Given the description of an element on the screen output the (x, y) to click on. 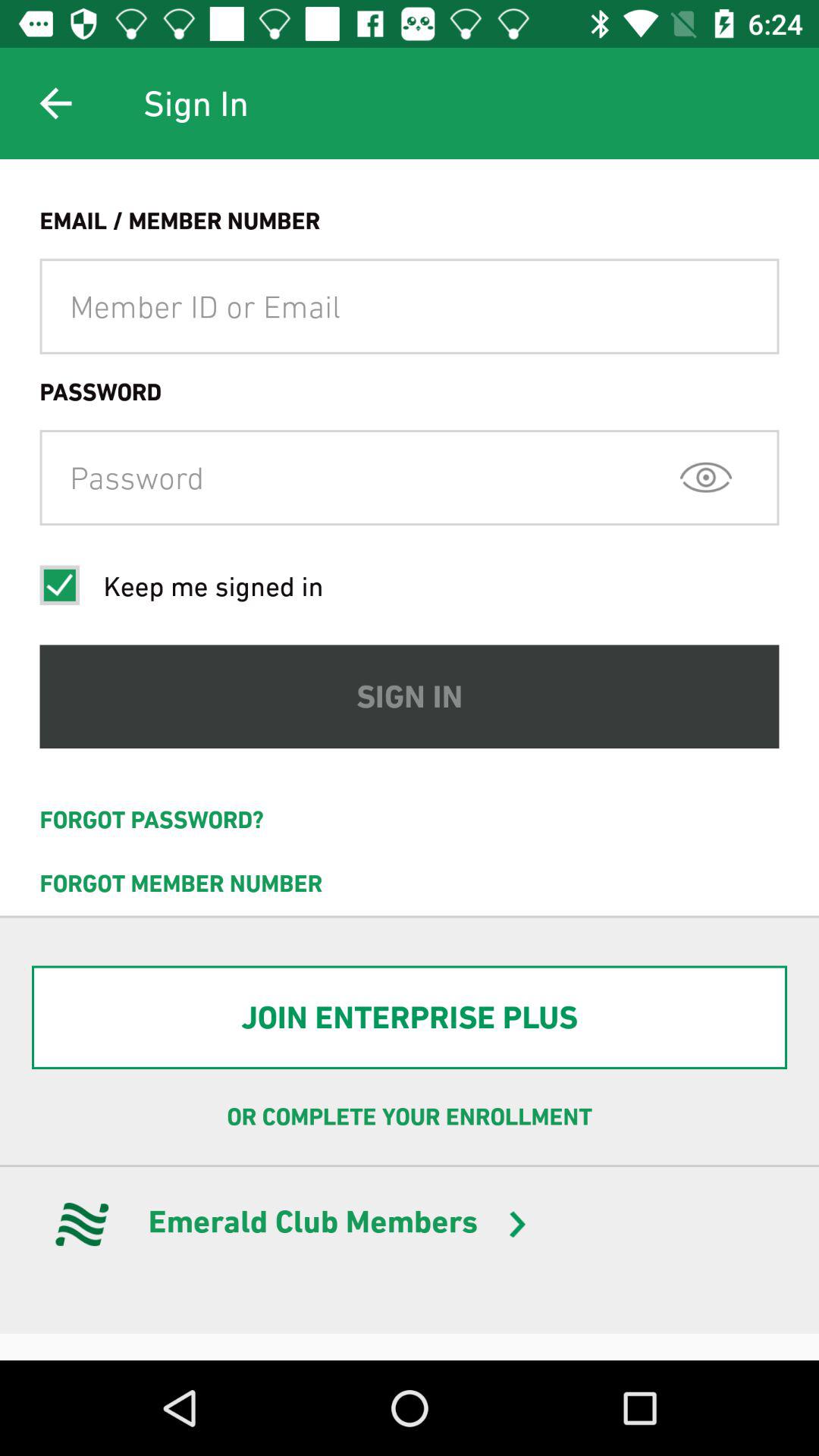
enter id or email (409, 306)
